Given the description of an element on the screen output the (x, y) to click on. 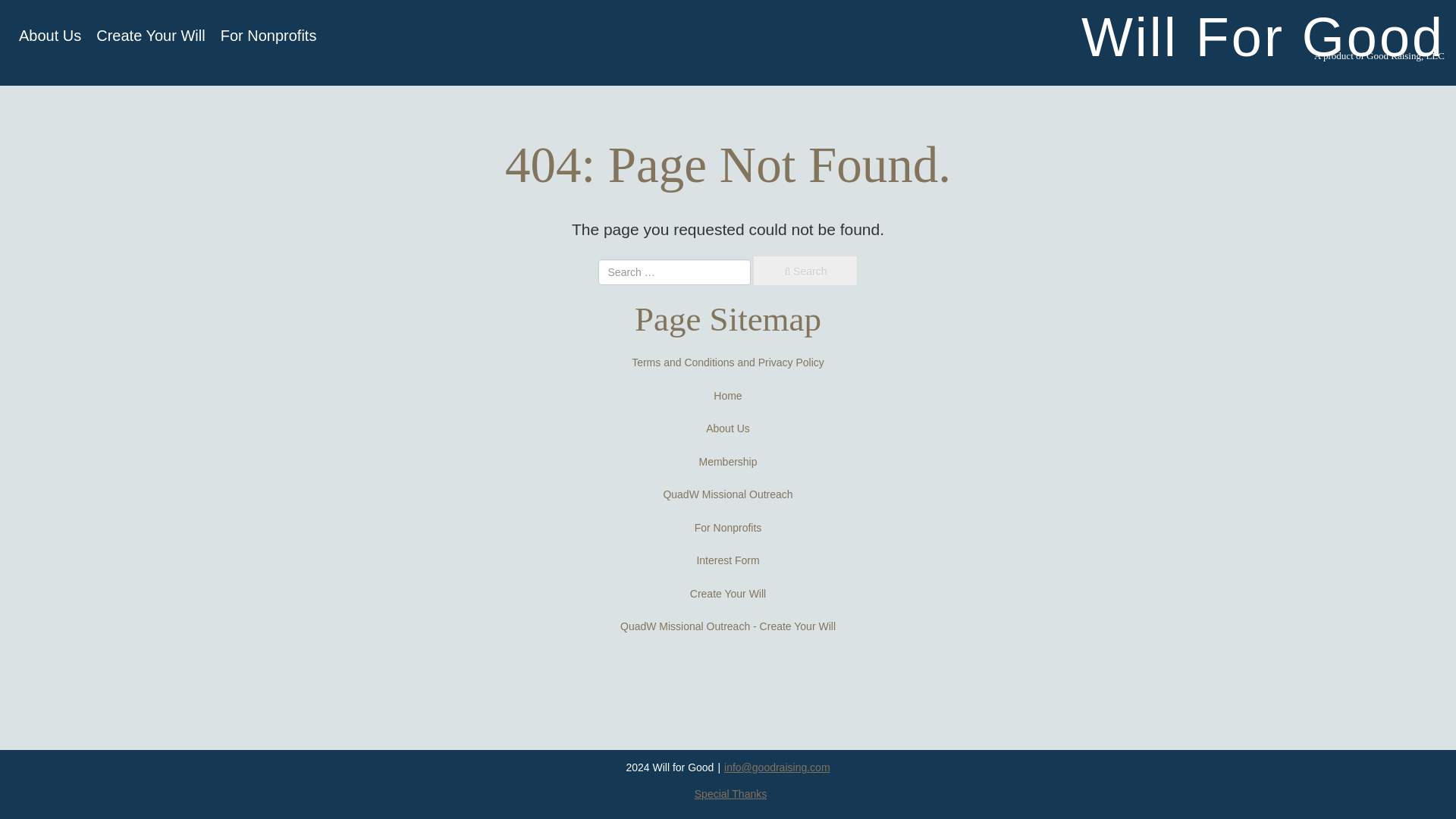
QuadW Missional Outreach (727, 494)
Create Your Will (150, 35)
Create Your Will (727, 593)
About Us (727, 428)
Home (727, 395)
About Us (49, 35)
Will For Good (1262, 36)
QuadW Missional Outreach - Create Your Will (727, 625)
Special Thanks (730, 793)
 Search (804, 270)
For Nonprofits (268, 35)
For Nonprofits (727, 527)
Interest Form (726, 560)
Terms and Conditions and Privacy Policy (727, 362)
Membership (727, 461)
